Given the description of an element on the screen output the (x, y) to click on. 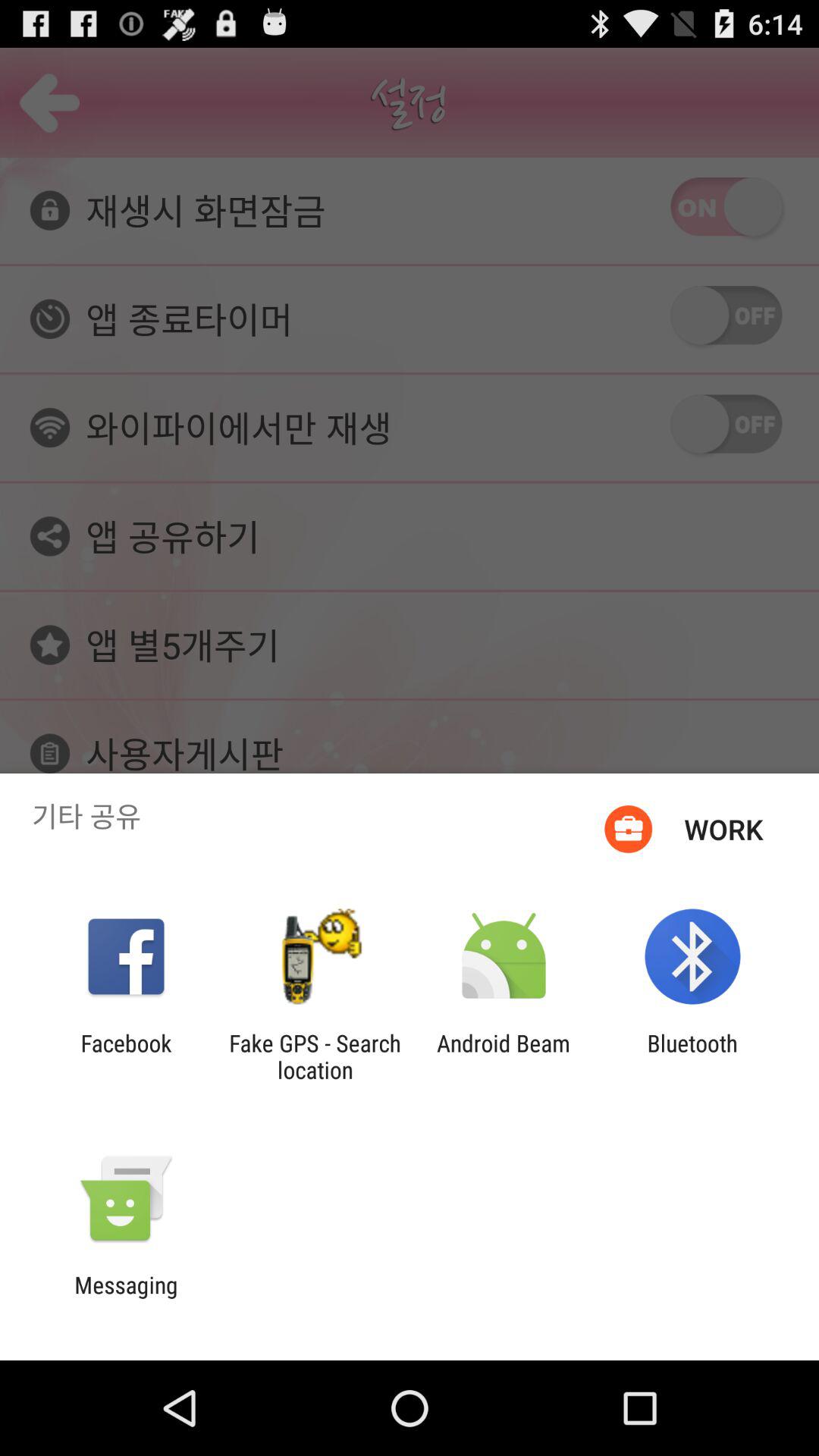
swipe to facebook (125, 1056)
